Given the description of an element on the screen output the (x, y) to click on. 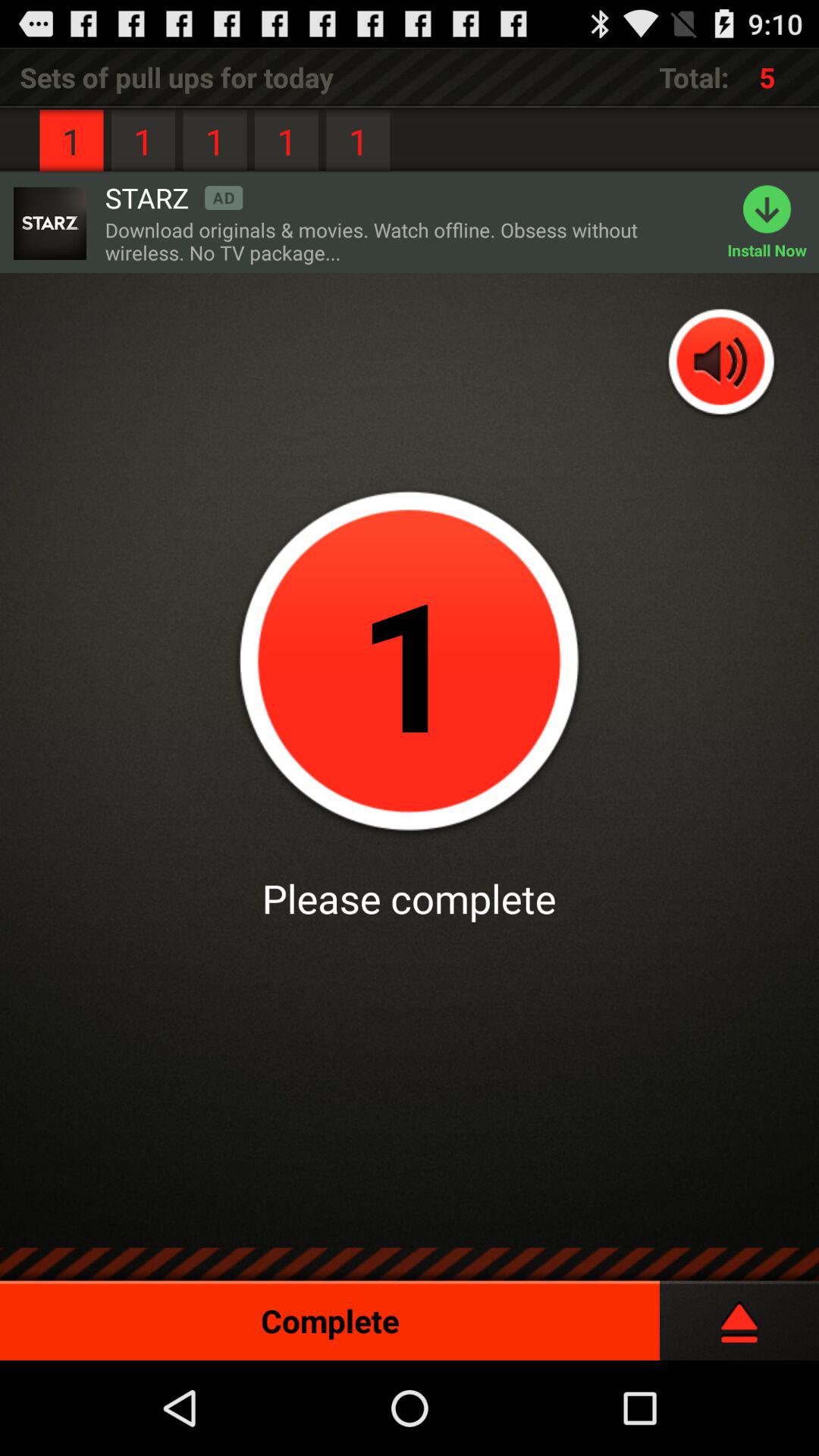
play pause (739, 1314)
